Given the description of an element on the screen output the (x, y) to click on. 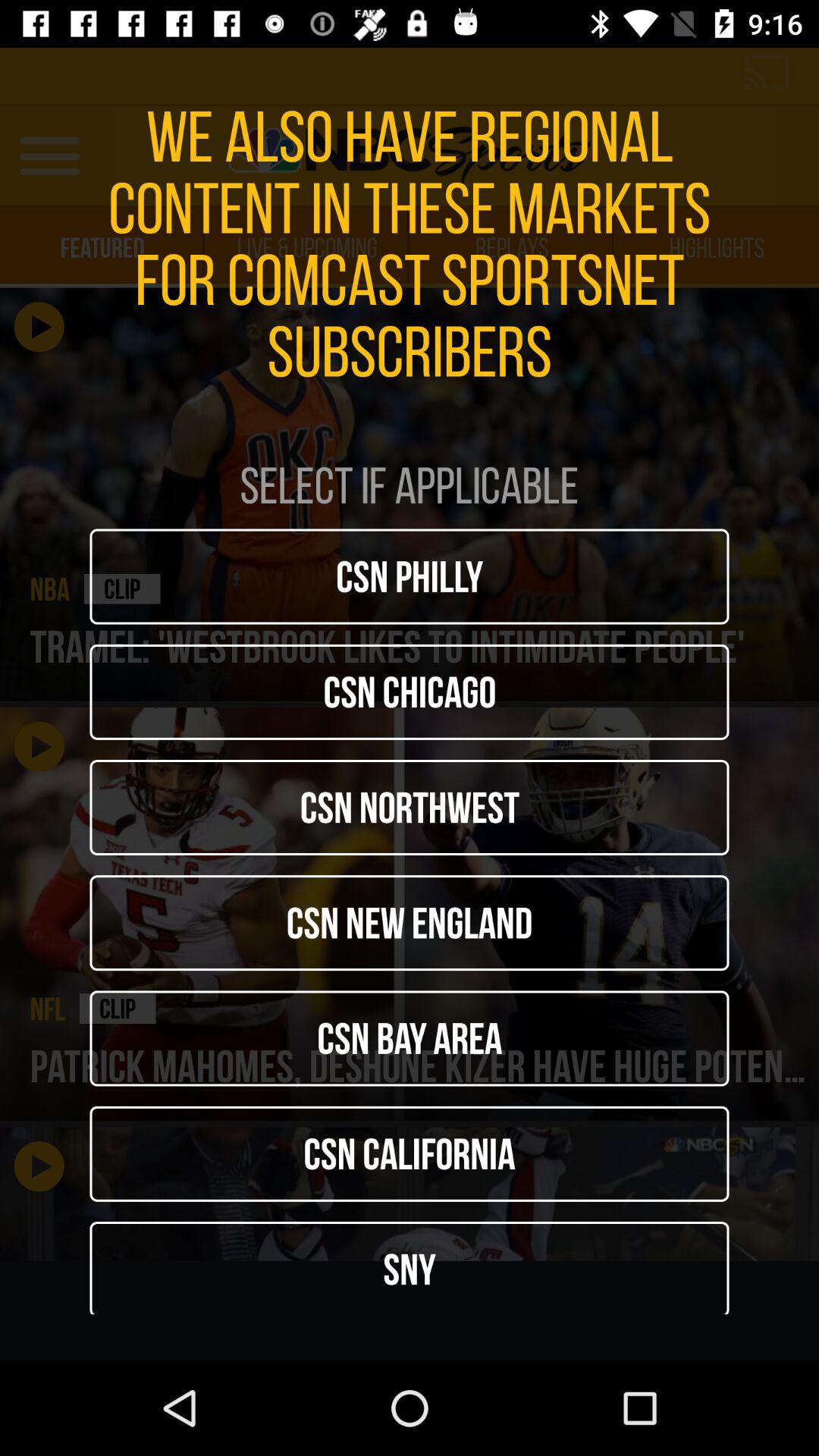
turn on icon above the csn california item (409, 1038)
